Given the description of an element on the screen output the (x, y) to click on. 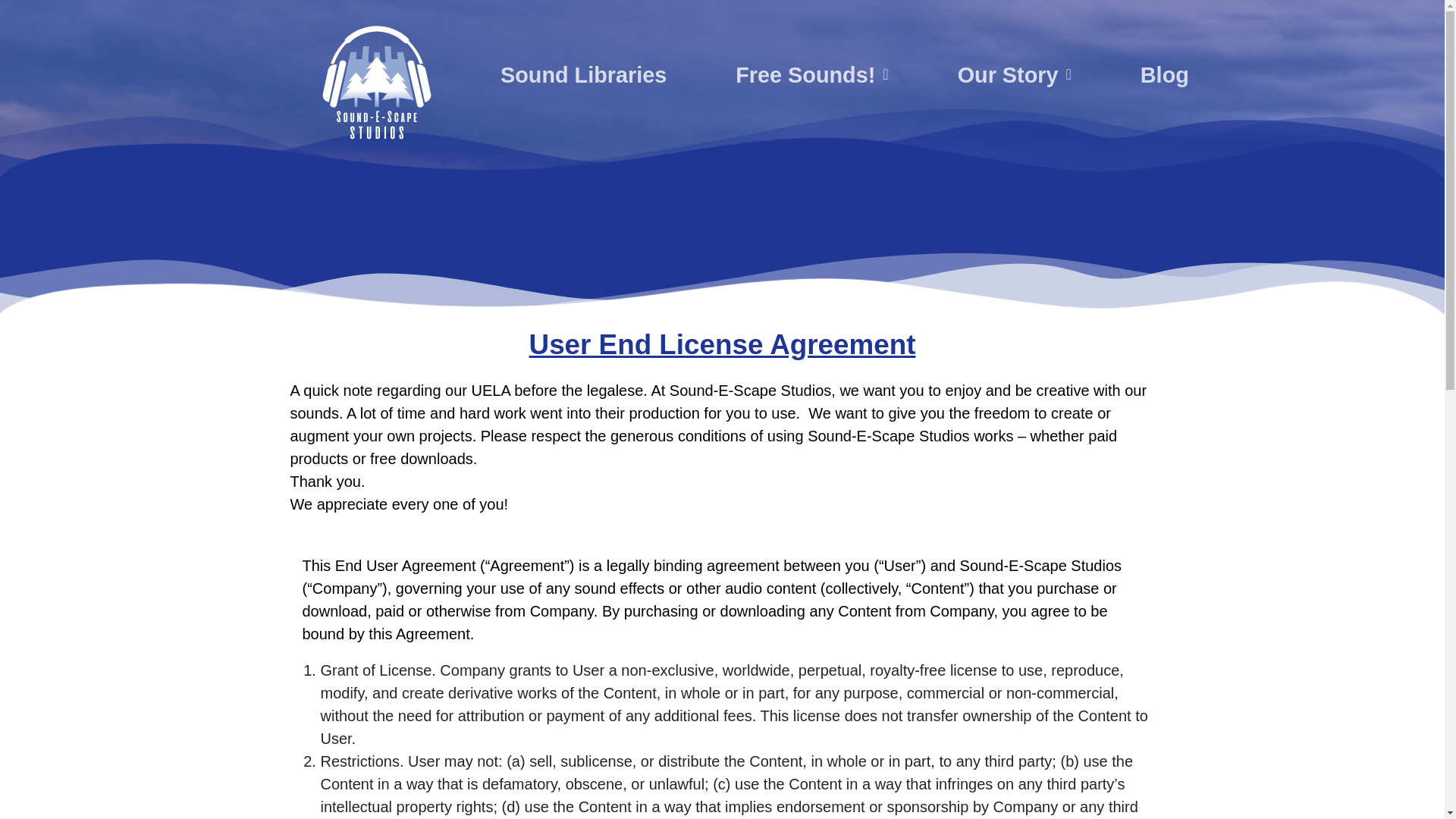
Sound Libraries (582, 36)
Blog (1164, 49)
Our Story (1014, 39)
Free Sounds! (811, 36)
